Given the description of an element on the screen output the (x, y) to click on. 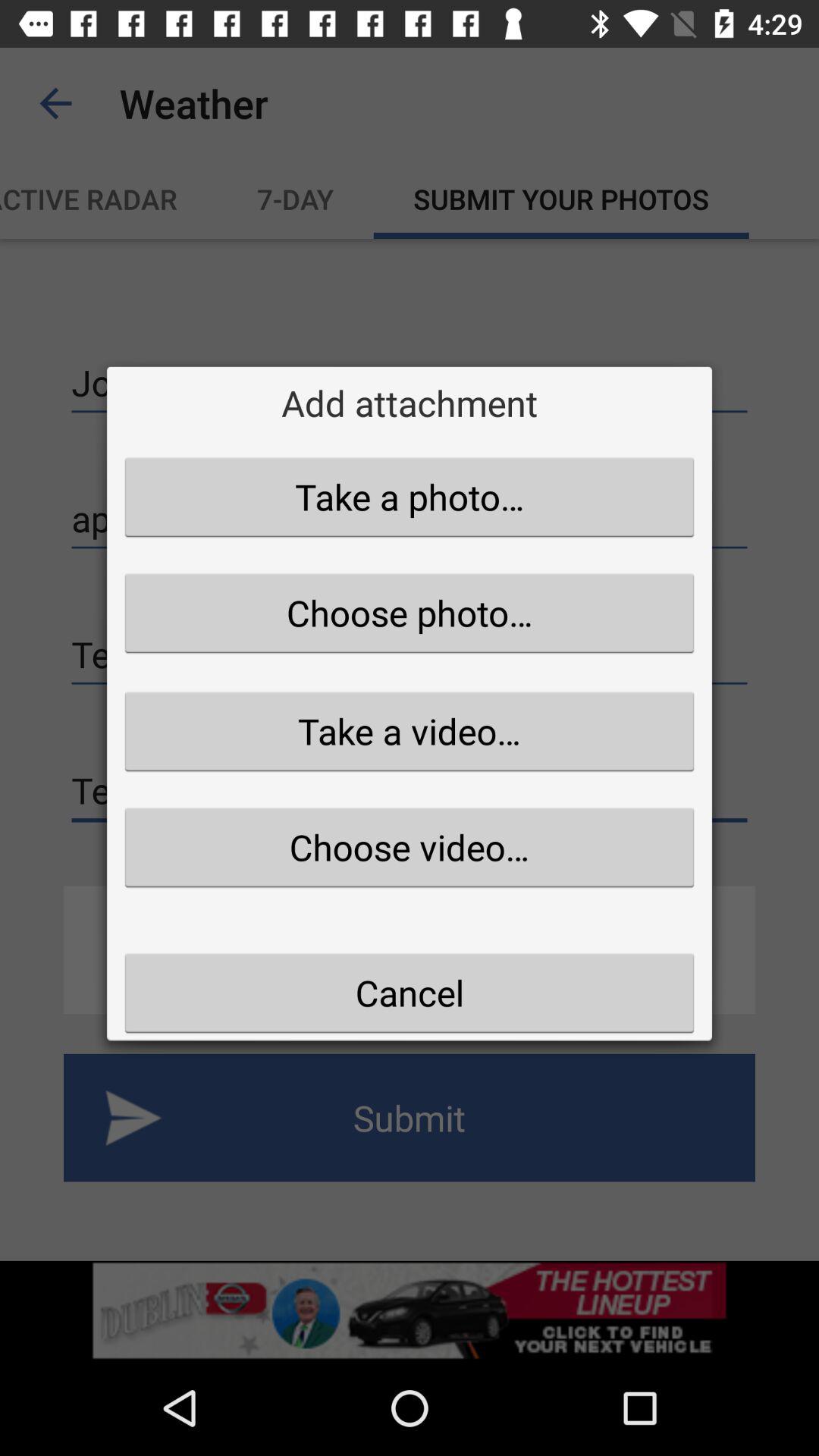
turn on icon at the bottom (409, 992)
